Given the description of an element on the screen output the (x, y) to click on. 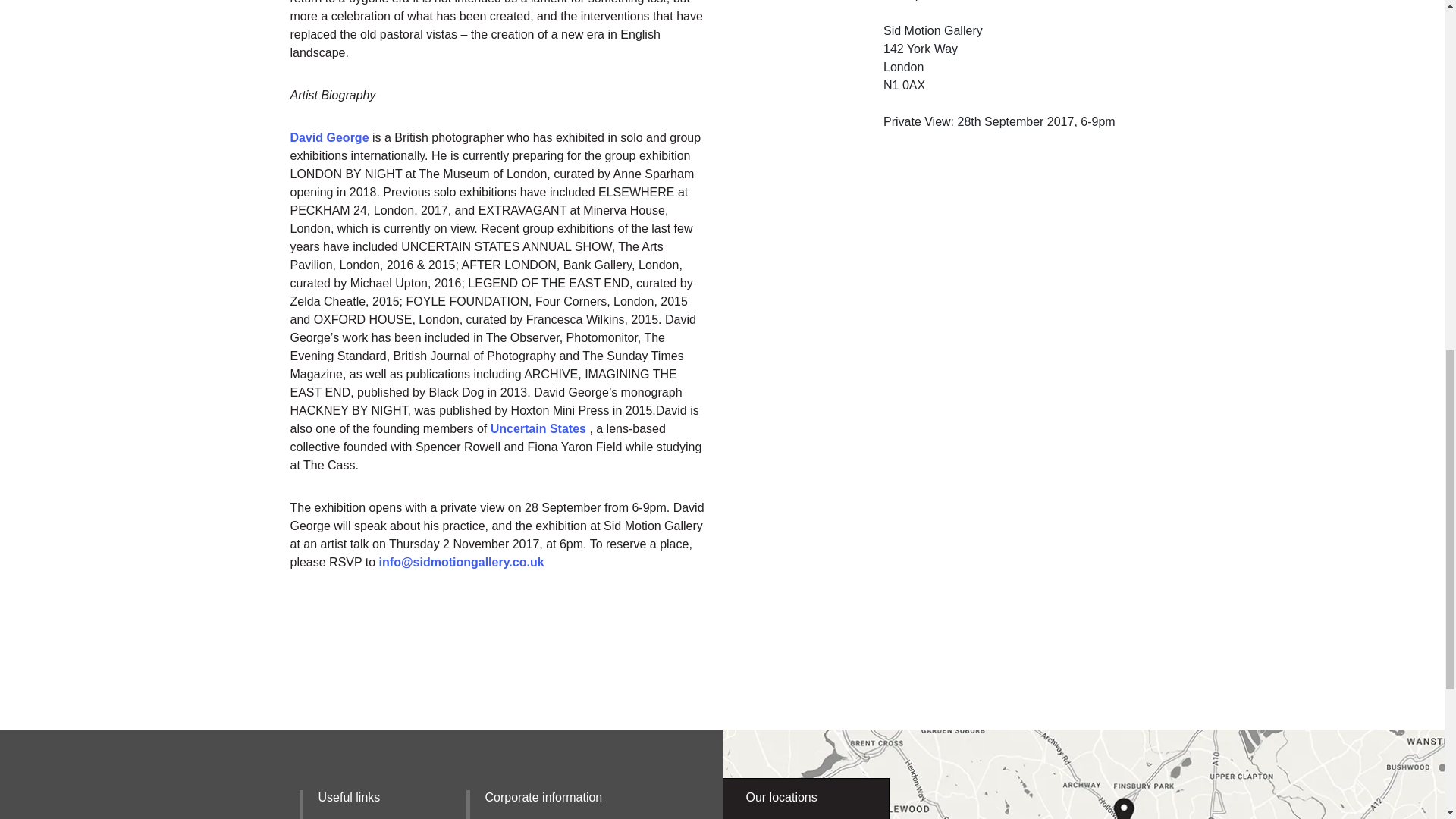
David George (330, 137)
Uncertain States Home (538, 428)
